Given the description of an element on the screen output the (x, y) to click on. 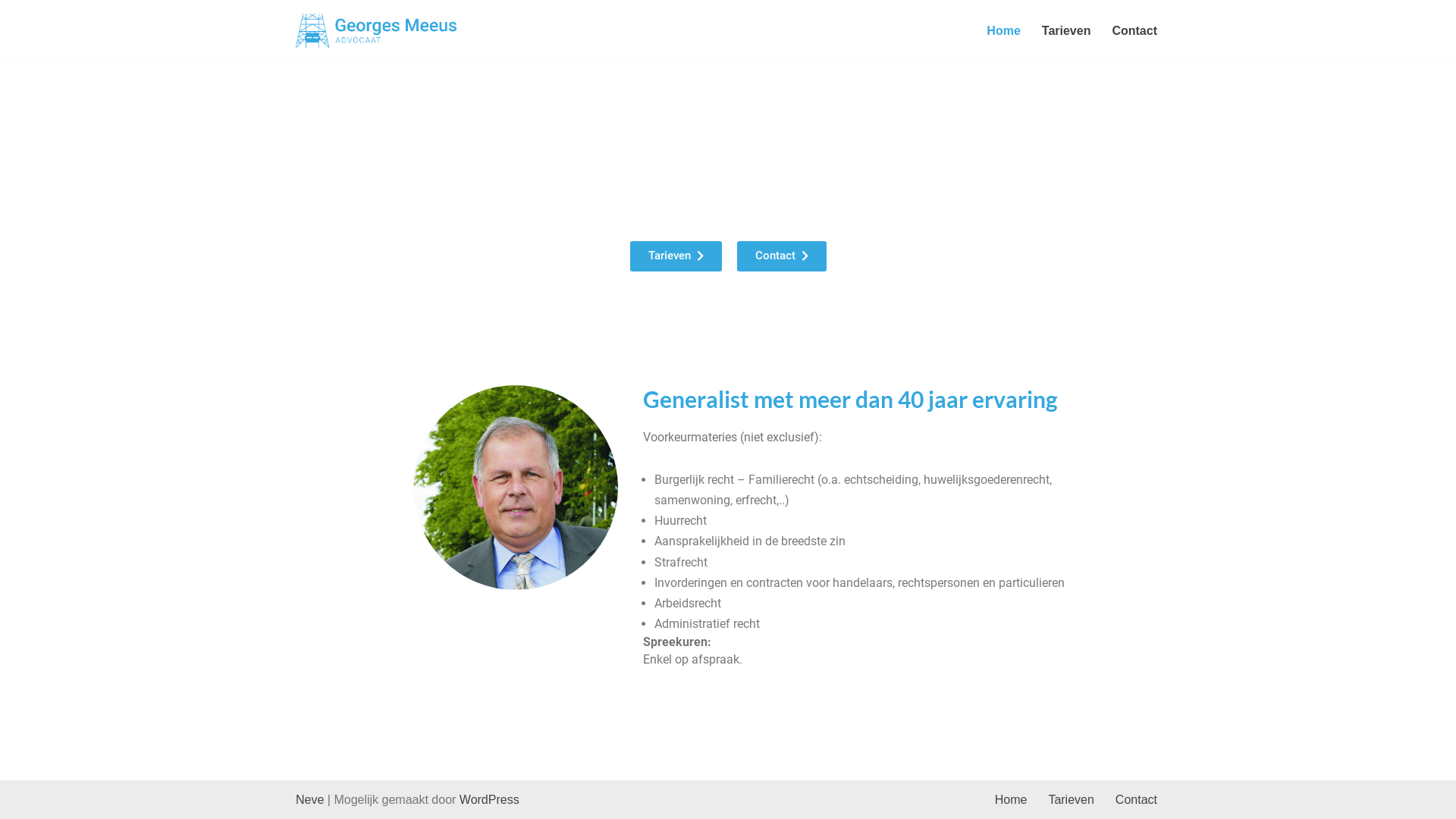
Contact Element type: text (781, 256)
Contact Element type: text (1136, 799)
WordPress Element type: text (489, 799)
Meteen naar de inhoud Element type: text (11, 31)
Tarieven Element type: text (1070, 799)
Contact Element type: text (1134, 30)
Home Element type: text (1002, 30)
Tarieven Element type: text (675, 256)
Neve Element type: text (309, 799)
Home Element type: text (1010, 799)
Tarieven Element type: text (1066, 30)
